Given the description of an element on the screen output the (x, y) to click on. 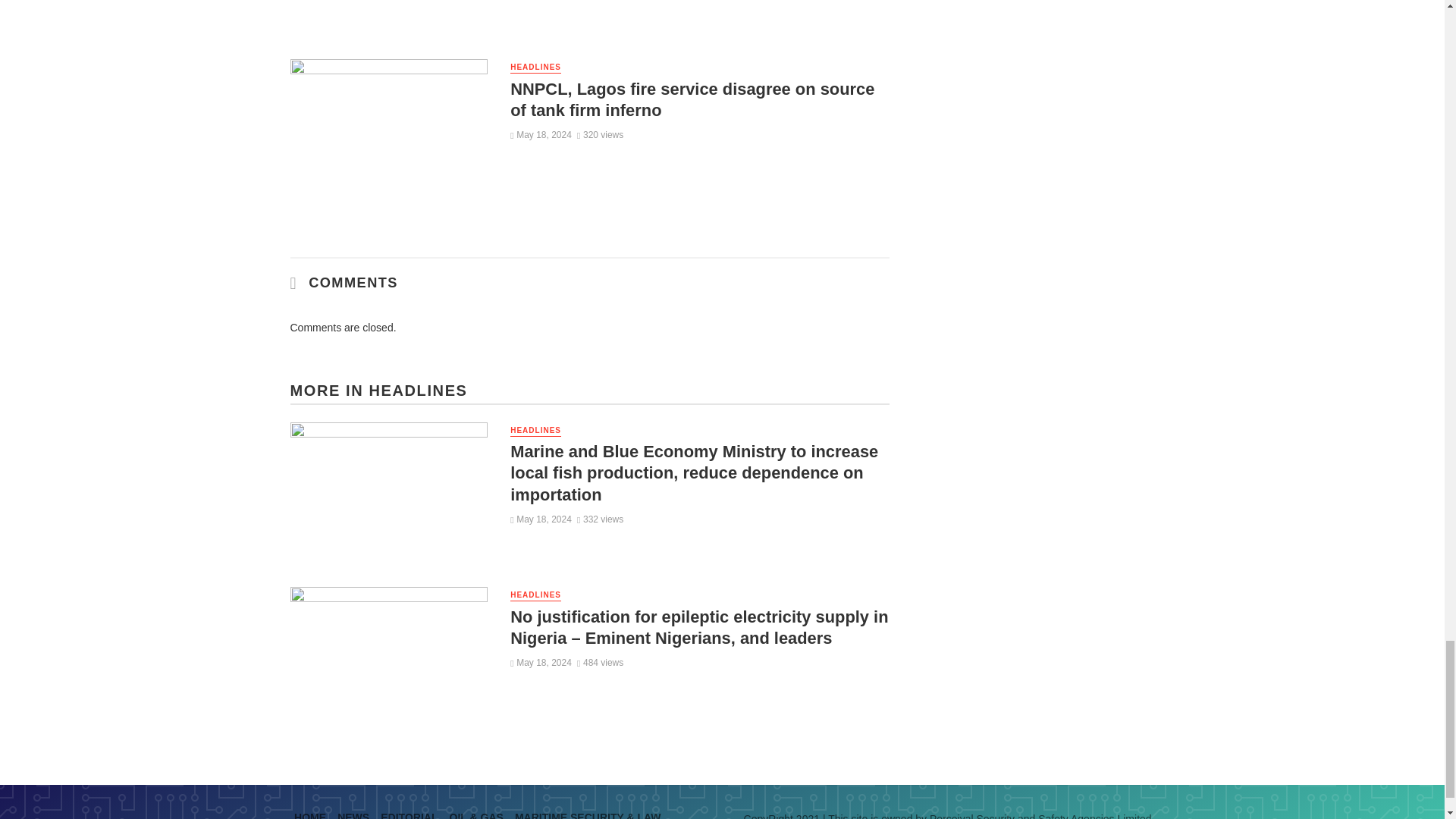
May 18, 2024 at 12:14 am (541, 134)
